Given the description of an element on the screen output the (x, y) to click on. 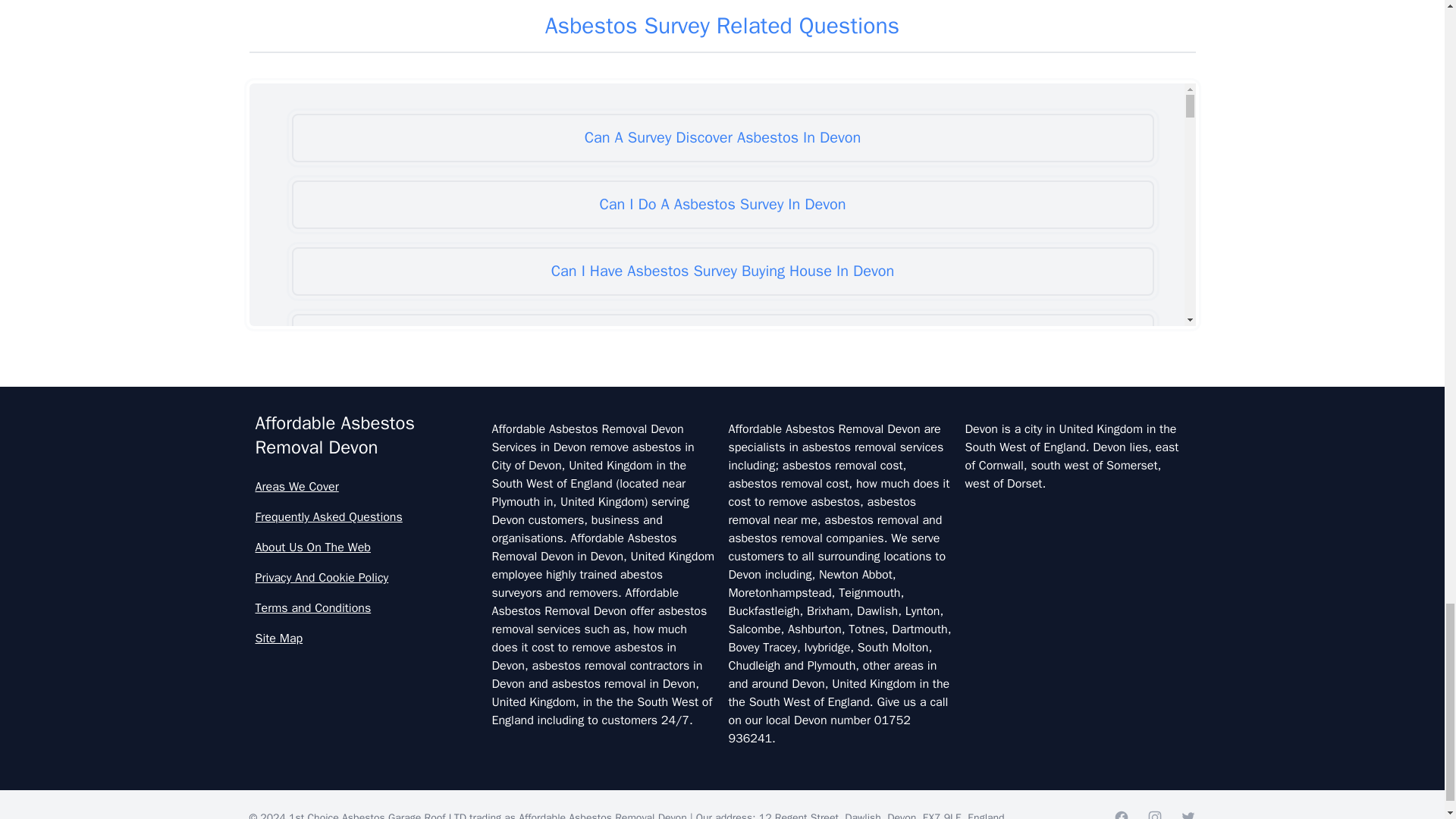
Can I Have Asbestos Survey Buying House In Devon (722, 271)
Do Contractors Need To See Asbestos Survey Report In Devon (722, 800)
Do Commercial Properties Need An Asbestos Survey In Devon (722, 738)
Can I Do A Asbestos Survey In Devon (722, 204)
Can A Survey Discover Asbestos In Devon (722, 137)
Do All Houses Need An Asbestos Survey In Devon (722, 538)
Do Asbestos Surveys Priduce Dyst In Devon (722, 604)
Do All 1980 Properties Require Asbestos Survey In Devon (722, 404)
Site Map (366, 638)
